Given the description of an element on the screen output the (x, y) to click on. 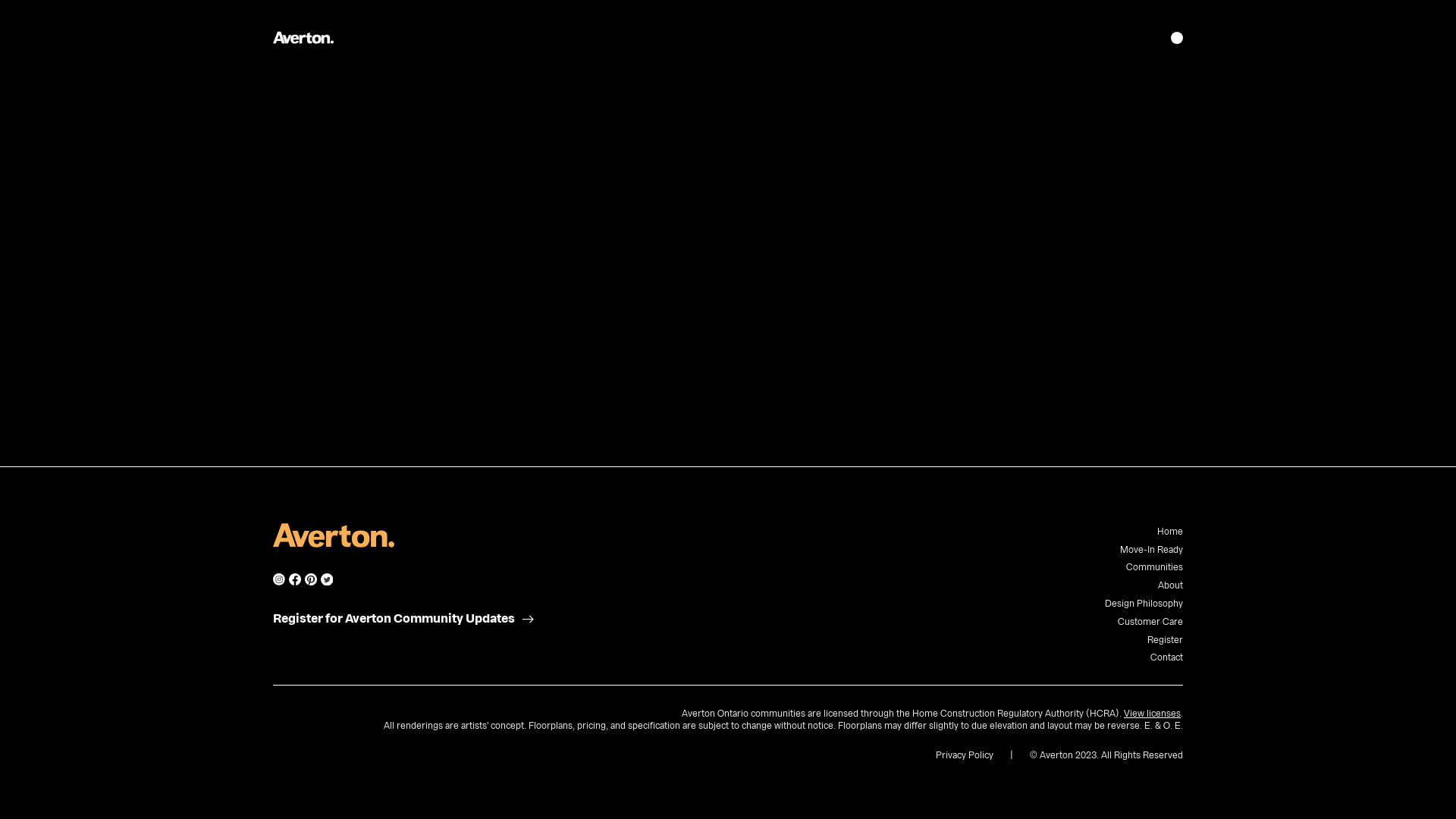
Register Element type: text (1165, 639)
Communities Element type: text (1154, 566)
About Element type: text (1170, 584)
Contact Element type: text (1166, 657)
Register for Averton Community Updates Element type: text (393, 619)
Privacy Policy Element type: text (964, 754)
Customer Care Element type: text (1150, 621)
Move-In Ready Element type: text (1151, 549)
View licenses Element type: text (1151, 713)
Home Element type: text (1170, 531)
Design Philosophy Element type: text (1143, 603)
